Given the description of an element on the screen output the (x, y) to click on. 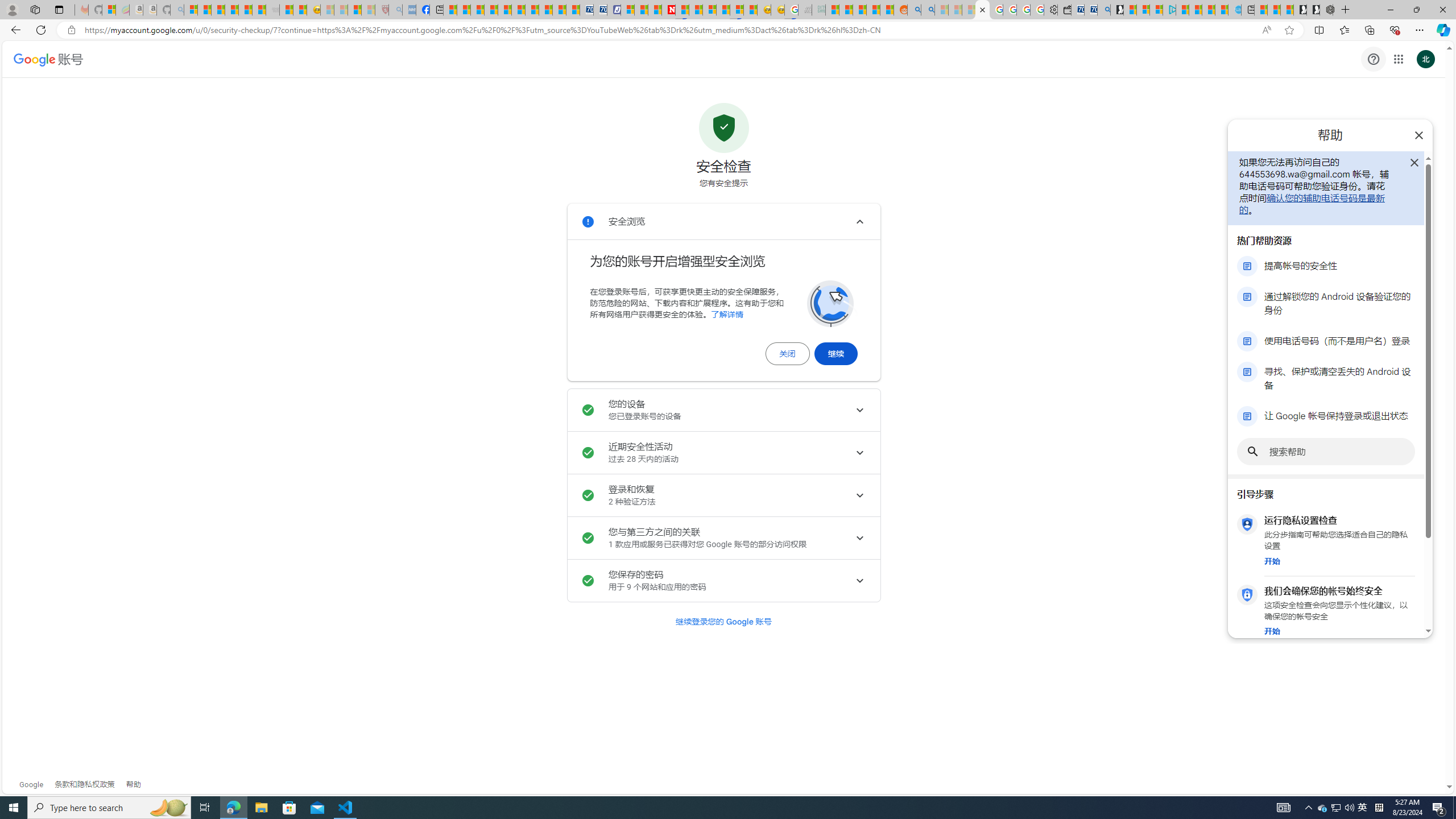
Cheap Car Rentals - Save70.com (1090, 9)
Climate Damage Becomes Too Severe To Reverse (490, 9)
Science - MSN (354, 9)
NCL Adult Asthma Inhaler Choice Guideline - Sleeping (408, 9)
Student Loan Update: Forgiveness Program Ends This Month (873, 9)
